Given the description of an element on the screen output the (x, y) to click on. 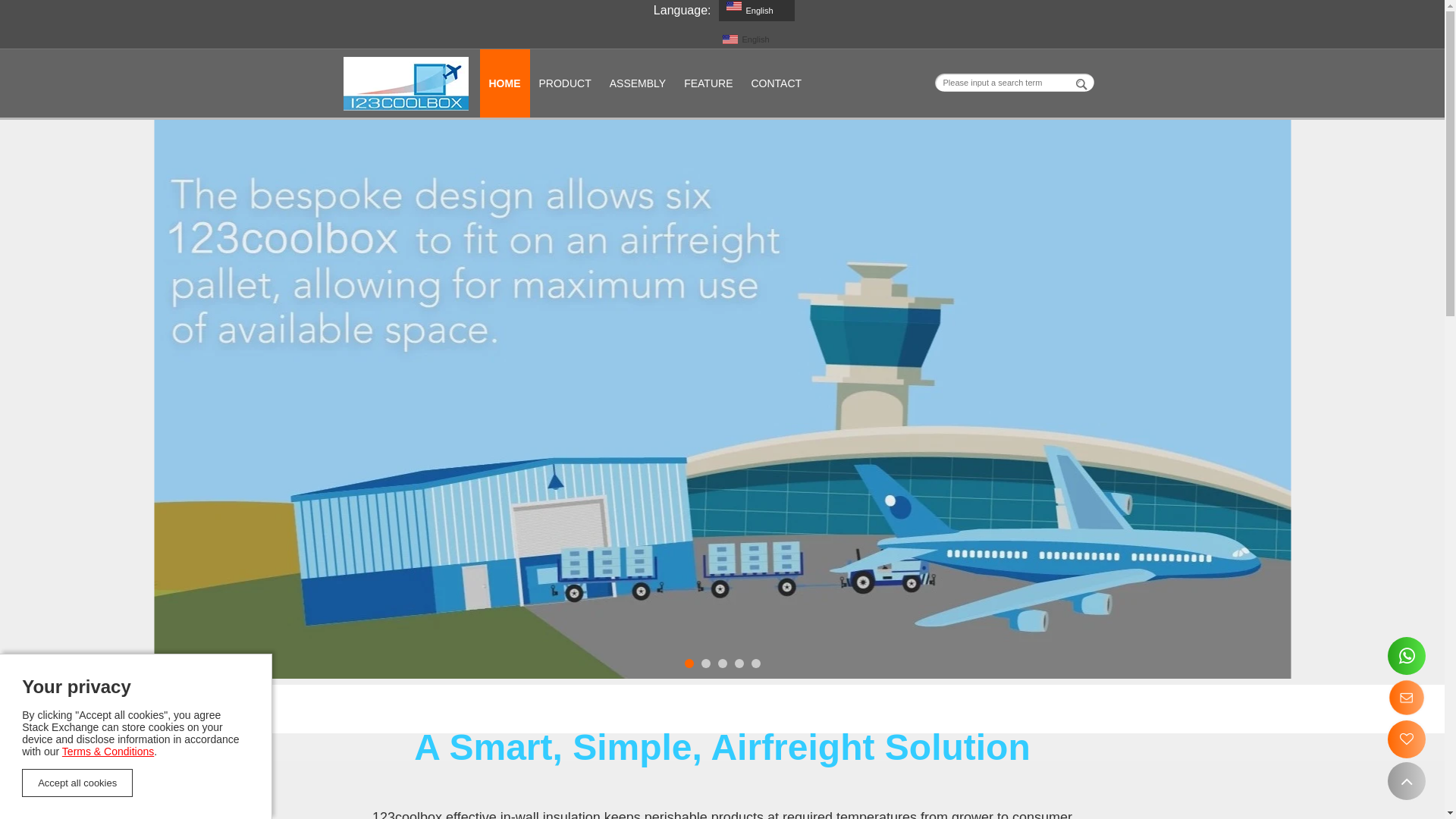
search Element type: hover (1081, 82)
1 Element type: text (688, 663)
ASSEMBLY Element type: text (637, 83)
Accept all cookies Element type: text (76, 782)
Terms & Conditions Element type: text (107, 751)
FEATURE Element type: text (708, 83)
3 Element type: text (721, 663)
HOME Element type: text (504, 83)
5 Element type: text (754, 663)
PRODUCT Element type: text (564, 83)
CONTACT Element type: text (775, 83)
Longxiang Group Limited Element type: hover (404, 83)
 English Element type: text (756, 10)
2 Element type: text (704, 663)
4 Element type: text (738, 663)
